Given the description of an element on the screen output the (x, y) to click on. 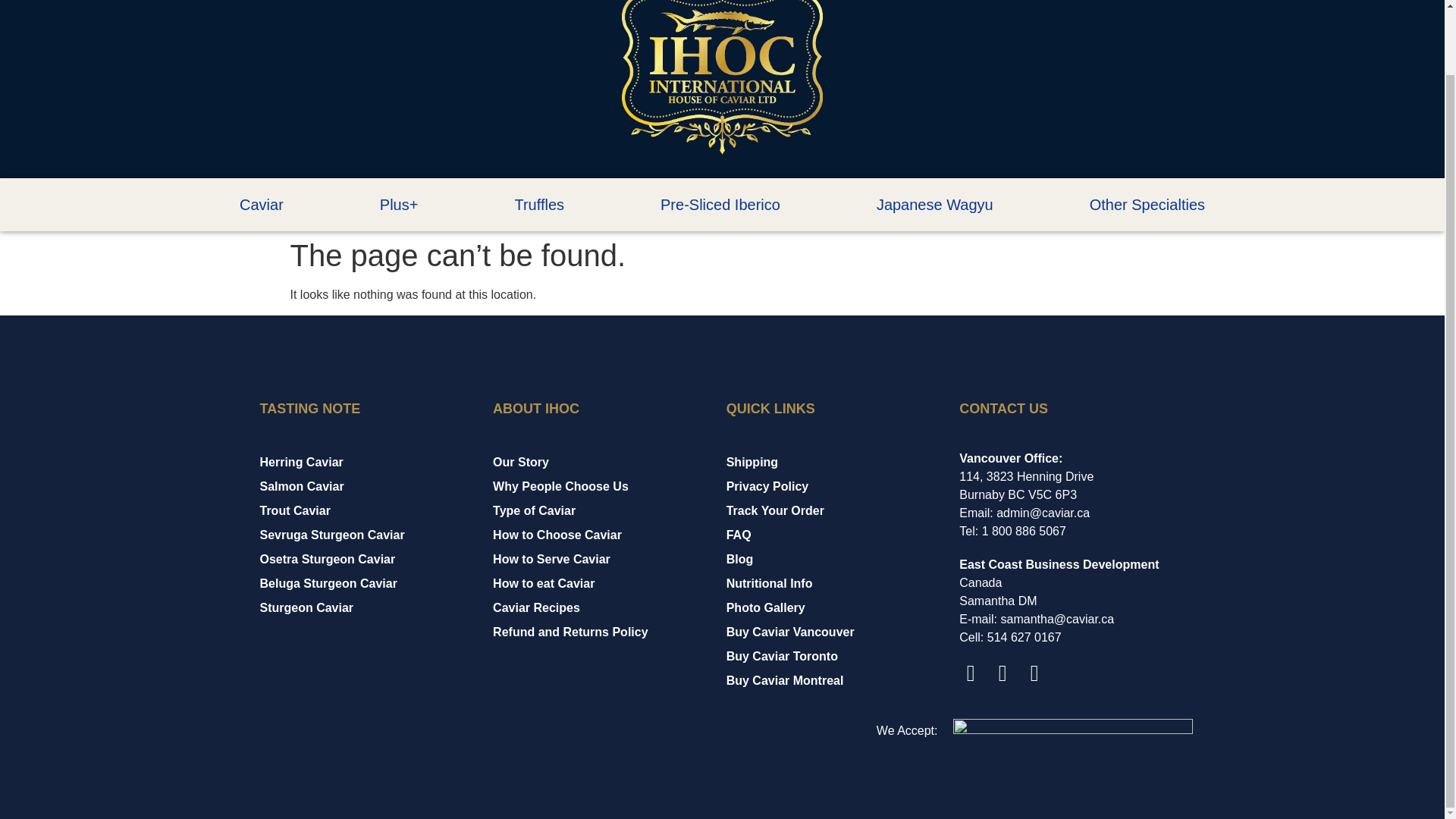
Pre-Sliced Iberico (720, 204)
Other Specialties (1146, 204)
Japanese Wagyu (934, 204)
Truffles (538, 204)
Caviar (260, 204)
